Given the description of an element on the screen output the (x, y) to click on. 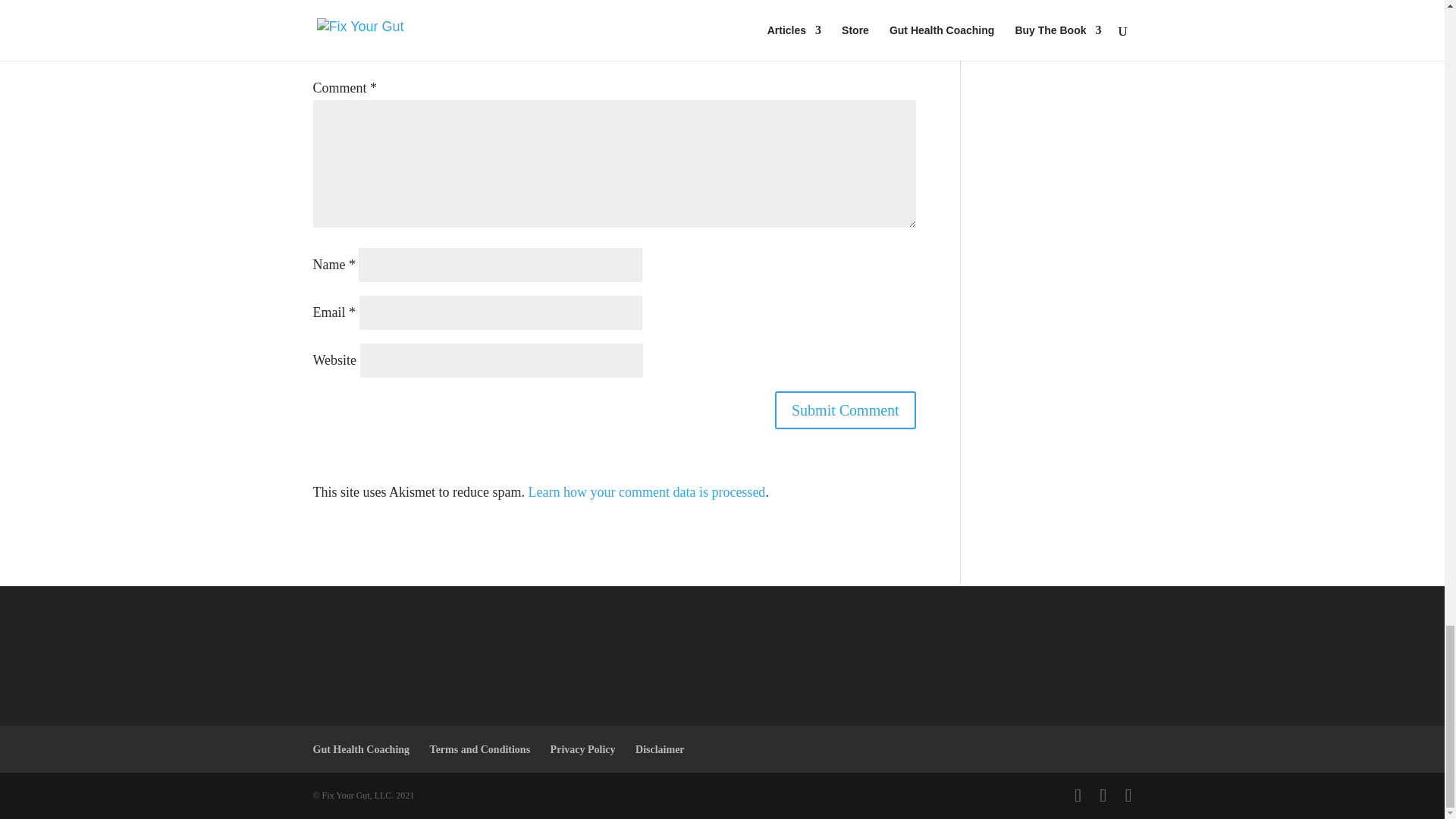
Submit Comment (844, 410)
